Given the description of an element on the screen output the (x, y) to click on. 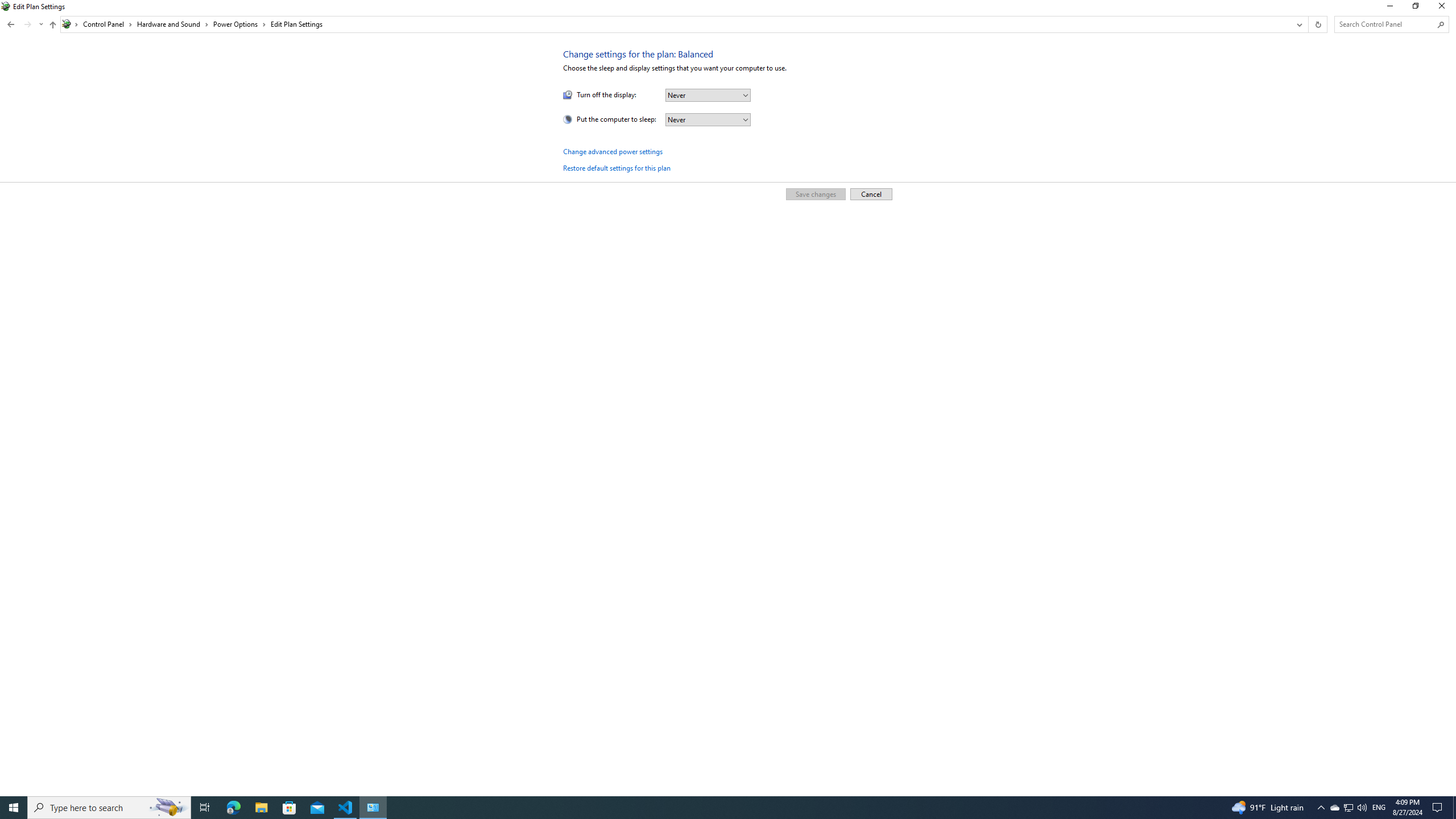
File Explorer (261, 807)
Microsoft Edge (233, 807)
Cancel (871, 193)
Previous Locations (1347, 807)
Minimize (1298, 23)
Restore (1388, 8)
Address band toolbar (1415, 8)
Visual Studio Code - 1 running window (1308, 23)
Power Options (345, 807)
System (239, 23)
Start (6, 6)
Forward (Alt + Right Arrow) (13, 807)
Recent locations (27, 23)
Turn off the display: (Plugged in) (40, 23)
